Given the description of an element on the screen output the (x, y) to click on. 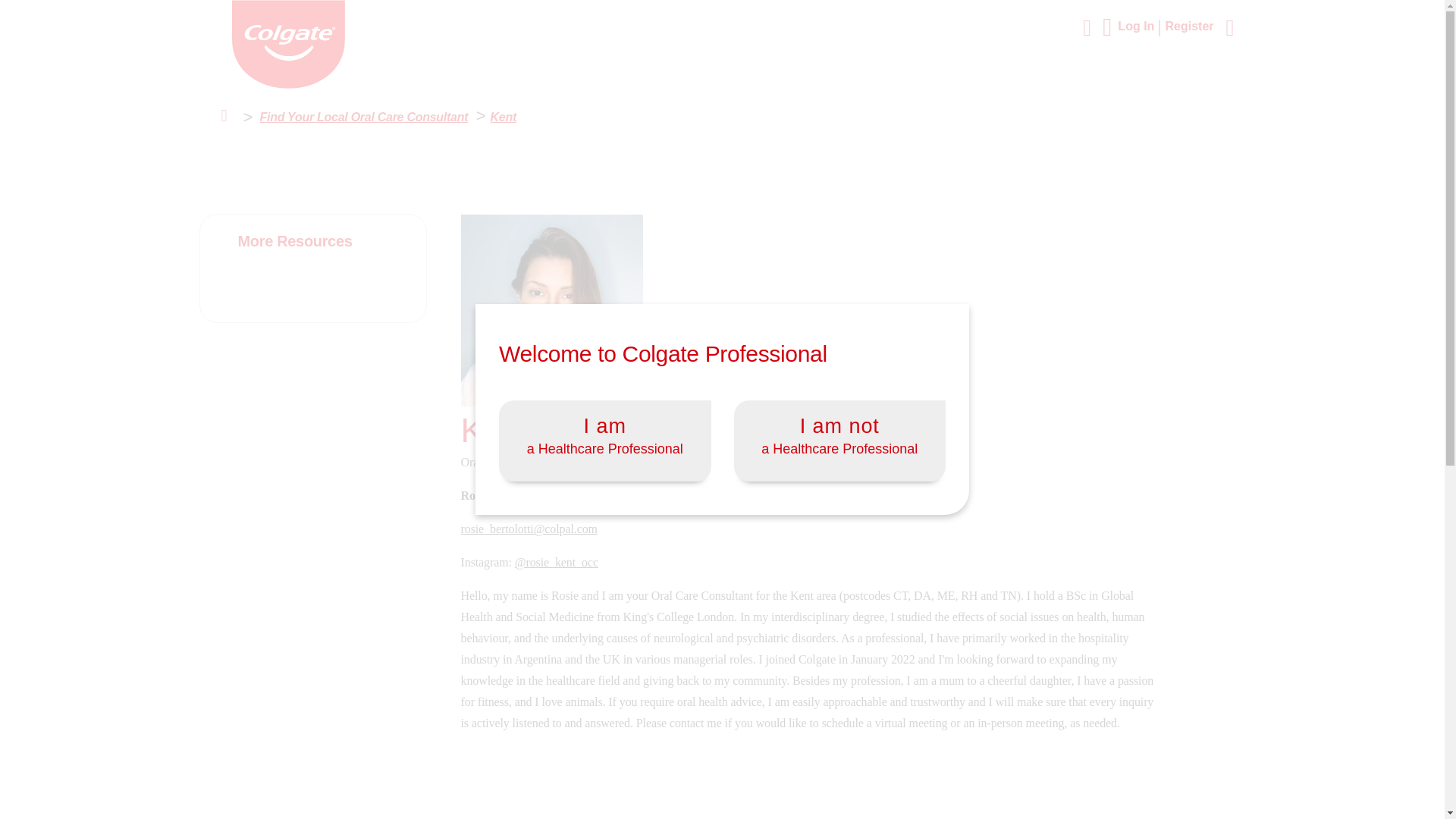
Register (1188, 25)
home (288, 83)
Rosie Berltolotti resize (552, 310)
Log In (1141, 25)
